Given the description of an element on the screen output the (x, y) to click on. 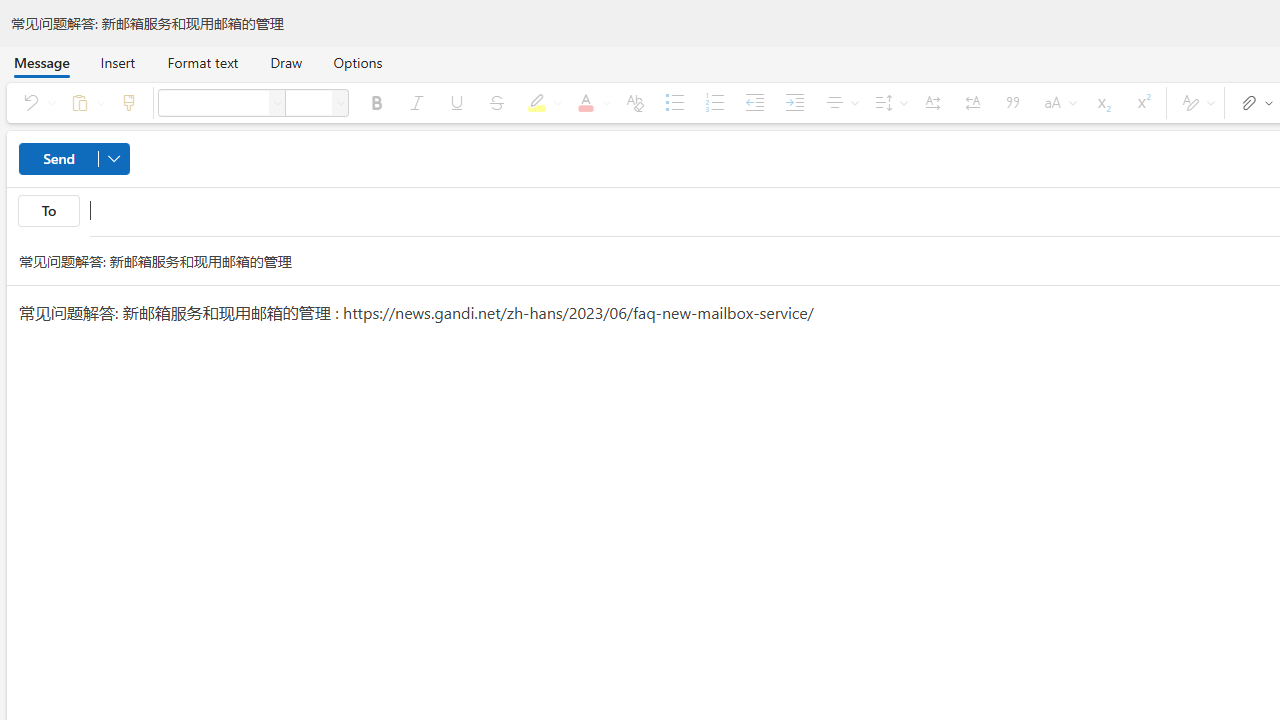
Bold (376, 102)
Options (357, 61)
Bullets (675, 102)
Text highlight color (541, 102)
Font (213, 102)
Increase indent (794, 102)
Insert (117, 61)
Numbering (714, 102)
Right-to-left (973, 102)
Format painter (128, 102)
Strikethrough (497, 102)
Send (74, 158)
Format text (202, 61)
Spacing (888, 102)
Font size (308, 102)
